Given the description of an element on the screen output the (x, y) to click on. 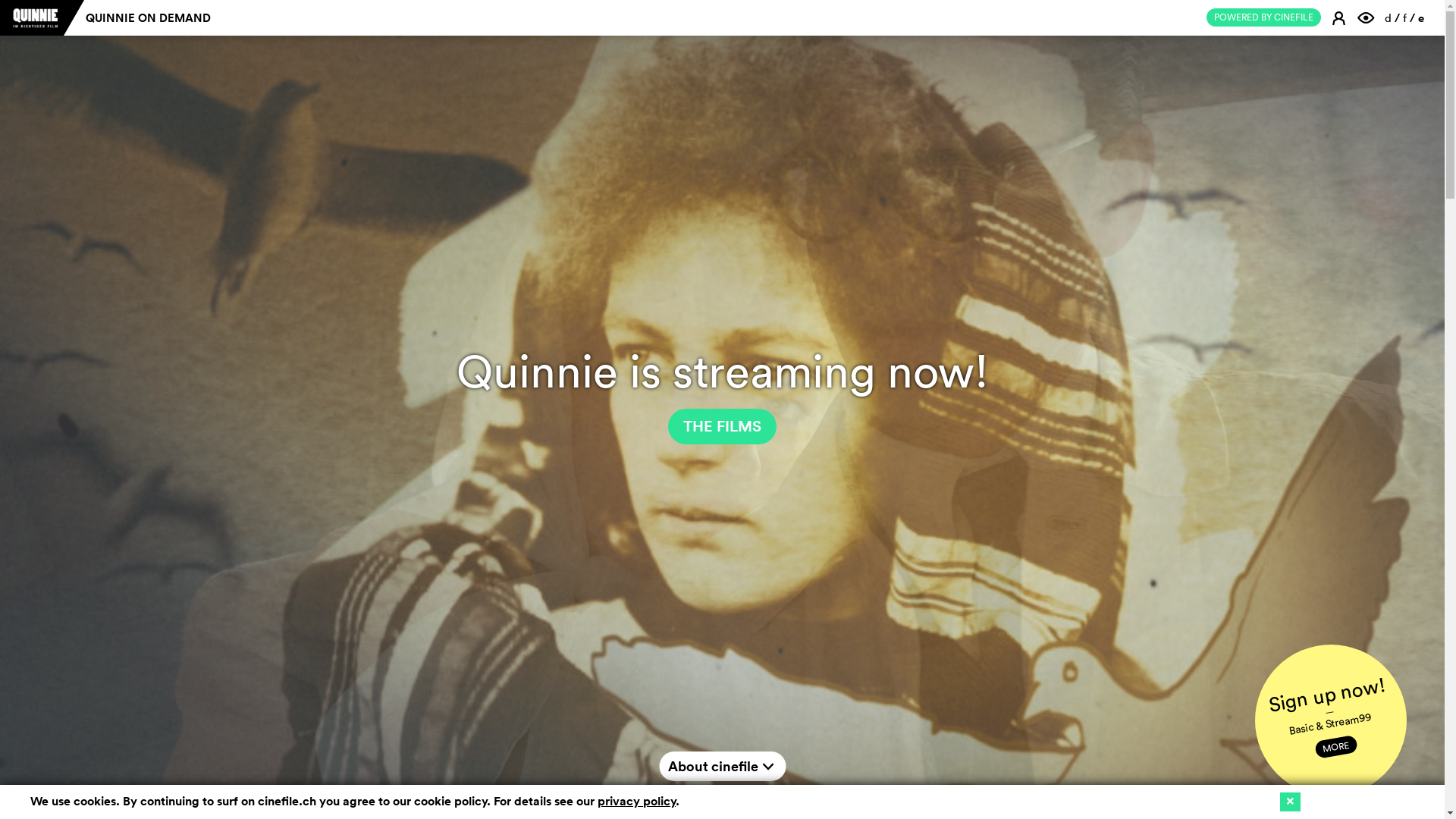
f Element type: text (1404, 17)
privacy policy Element type: text (636, 801)
QUINNIE ON DEMAND Element type: text (148, 17)
d Element type: text (1387, 17)
THE FILMS Element type: text (722, 426)
THE FILMS Element type: text (722, 426)
About cinefile q Element type: text (721, 766)
F Element type: text (1367, 17)
MORE Element type: text (1334, 743)
e Element type: text (1421, 17)
E Element type: text (1340, 17)
